Given the description of an element on the screen output the (x, y) to click on. 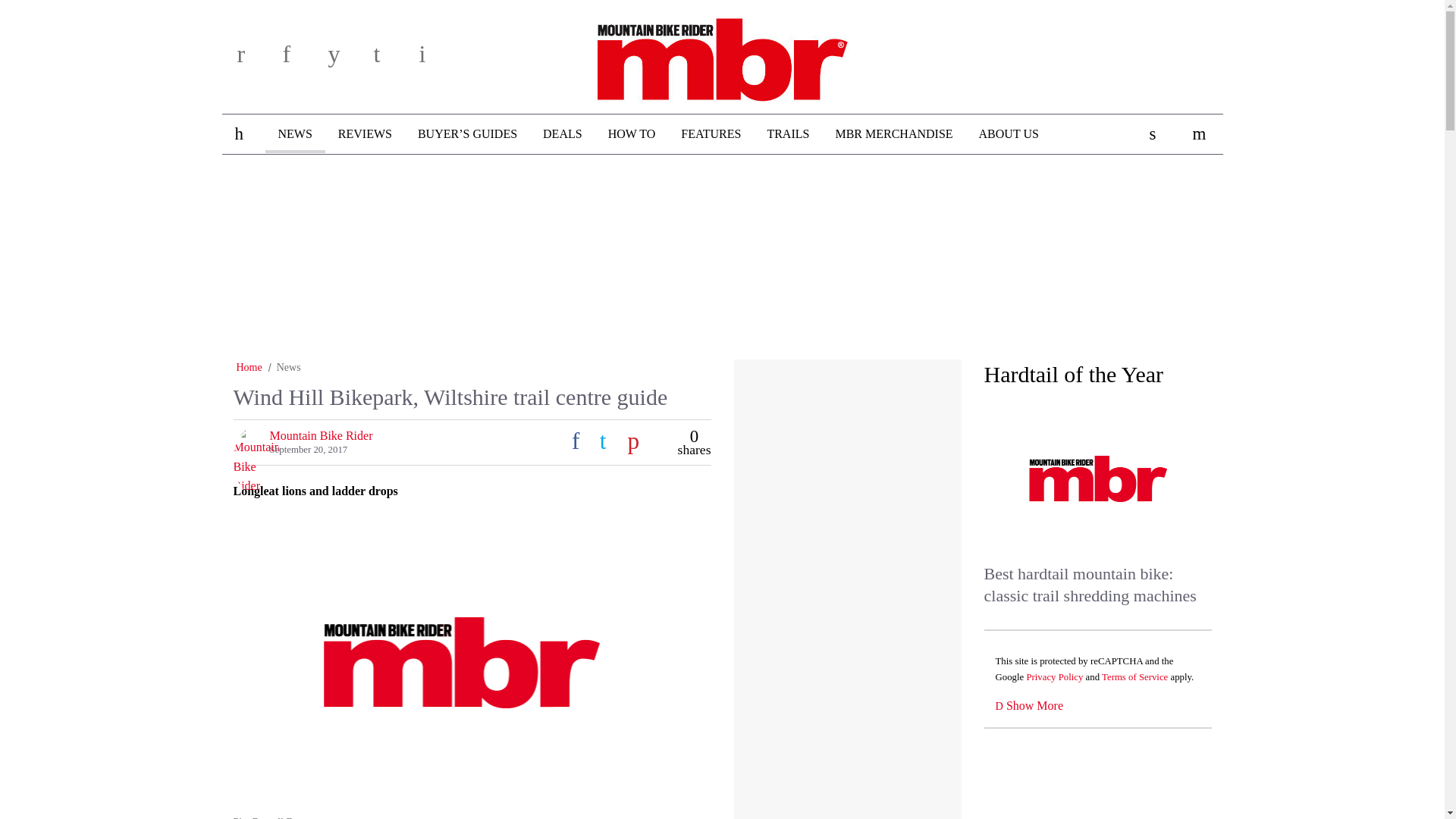
MBR (721, 53)
REVIEWS (364, 133)
MBR MERCHANDISE (893, 133)
News (288, 367)
DEALS (562, 133)
Home (248, 367)
TRAILS (788, 133)
FEATURES (711, 133)
MBR (721, 53)
f (300, 59)
